Given the description of an element on the screen output the (x, y) to click on. 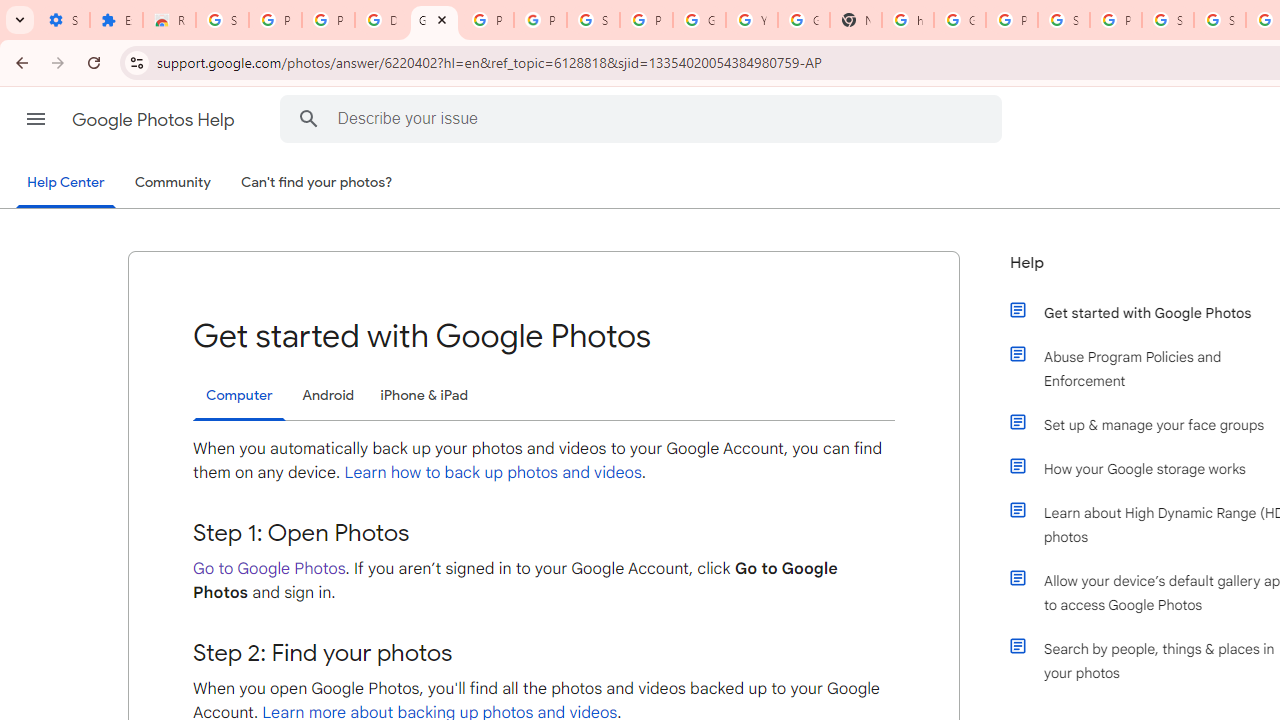
Describe your issue (644, 118)
Google Photos Help (155, 119)
Settings - On startup (63, 20)
Can't find your photos? (317, 183)
iPhone & iPad (424, 395)
